Given the description of an element on the screen output the (x, y) to click on. 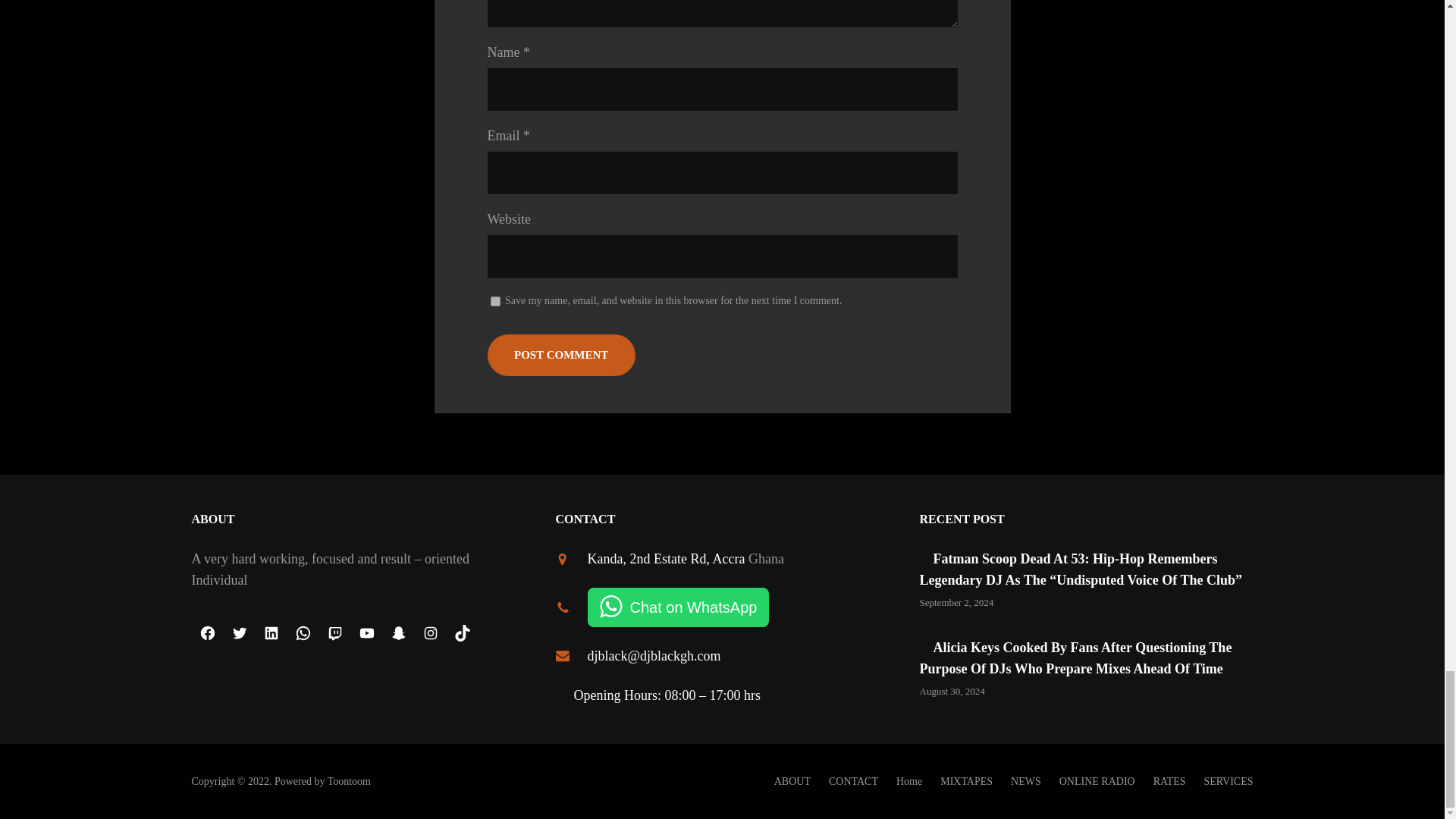
Chat on WhatsApp (677, 607)
Kanda, 2nd Estate Rd, Accra (665, 558)
Twitch (334, 633)
Post Comment (560, 354)
Post Comment (560, 354)
Facebook (206, 633)
Twitter (238, 633)
Instagram (429, 633)
TikTok (461, 633)
WhatsApp (302, 633)
